Given the description of an element on the screen output the (x, y) to click on. 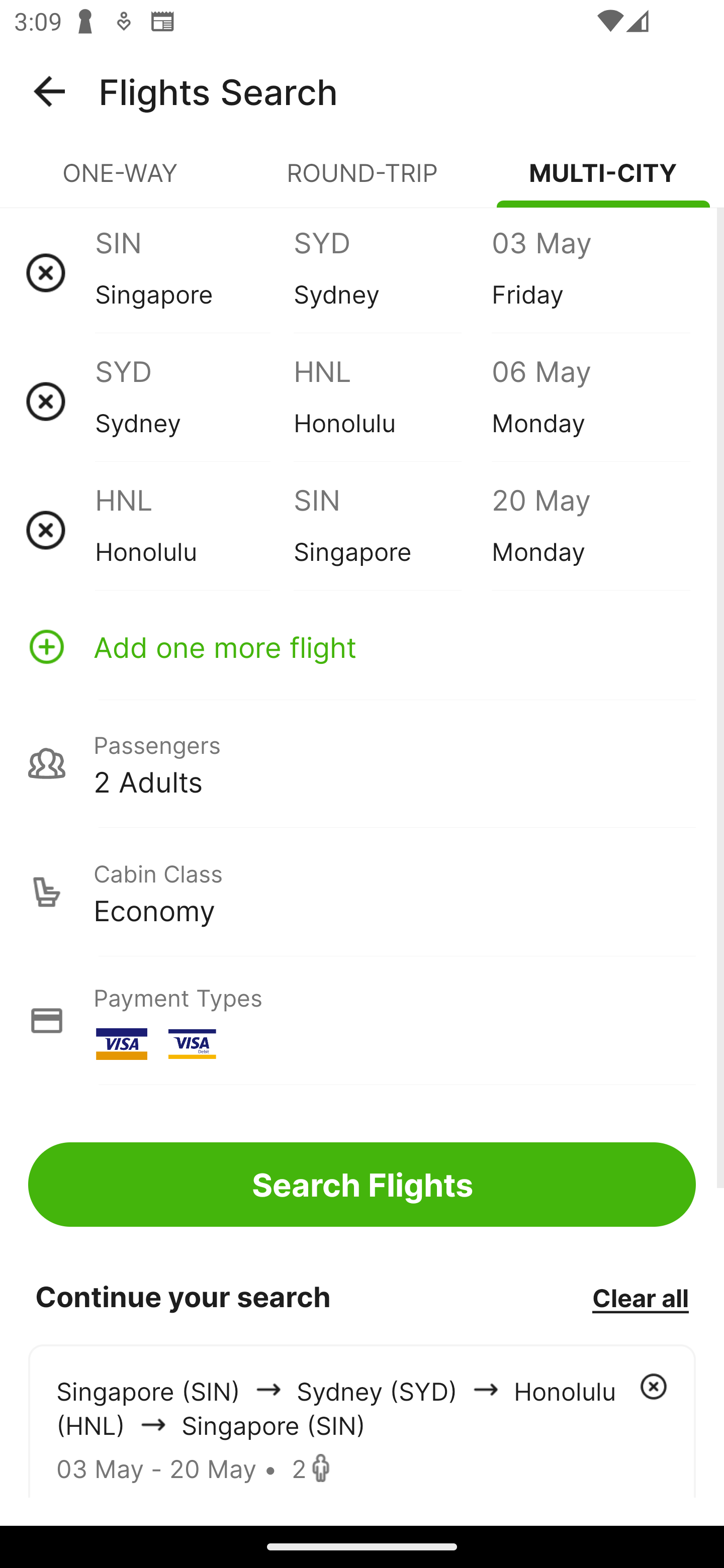
ONE-WAY (120, 180)
ROUND-TRIP (361, 180)
MULTI-CITY (603, 180)
SIN Singapore (193, 272)
SYD Sydney (392, 272)
03 May Friday (590, 272)
SYD Sydney (193, 401)
HNL Honolulu (392, 401)
06 May Monday (590, 401)
HNL Honolulu (193, 529)
SIN Singapore (392, 529)
20 May Monday (590, 529)
Add one more flight (362, 646)
Passengers 2 Adults (362, 762)
Cabin Class Economy (362, 891)
Payment Types (362, 1020)
Search Flights (361, 1184)
Clear all (640, 1297)
